Given the description of an element on the screen output the (x, y) to click on. 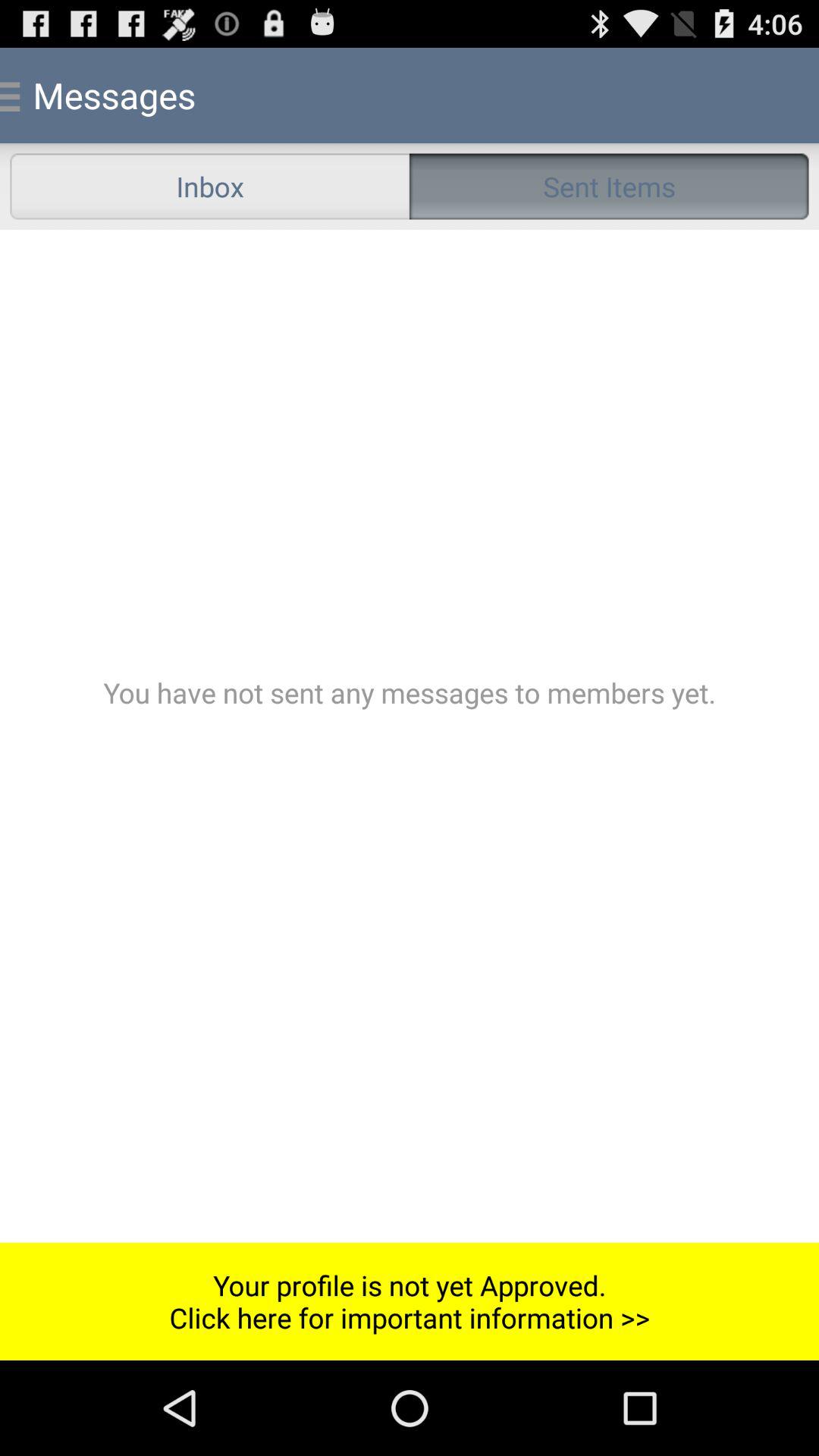
select sent items item (608, 186)
